Given the description of an element on the screen output the (x, y) to click on. 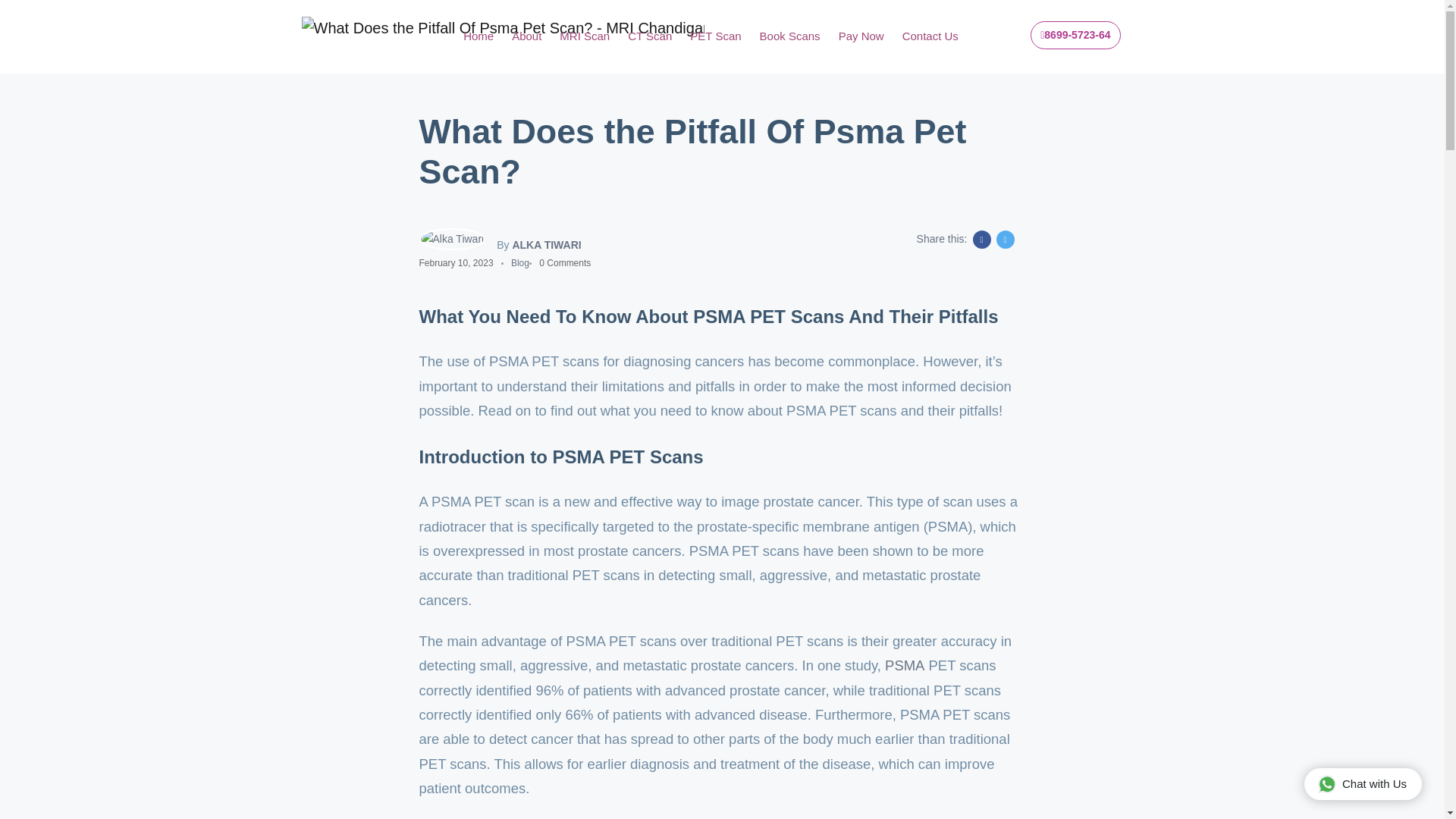
8699-5723-64 (1074, 35)
Blog (520, 262)
PET Scan (715, 36)
About (526, 36)
Home (478, 36)
CT Scan (649, 36)
PSMA (904, 665)
ALKA TIWARI (546, 242)
MRI Scan (584, 36)
Pay Now (860, 36)
Contact Us (930, 36)
Book Scans (790, 36)
